Given the description of an element on the screen output the (x, y) to click on. 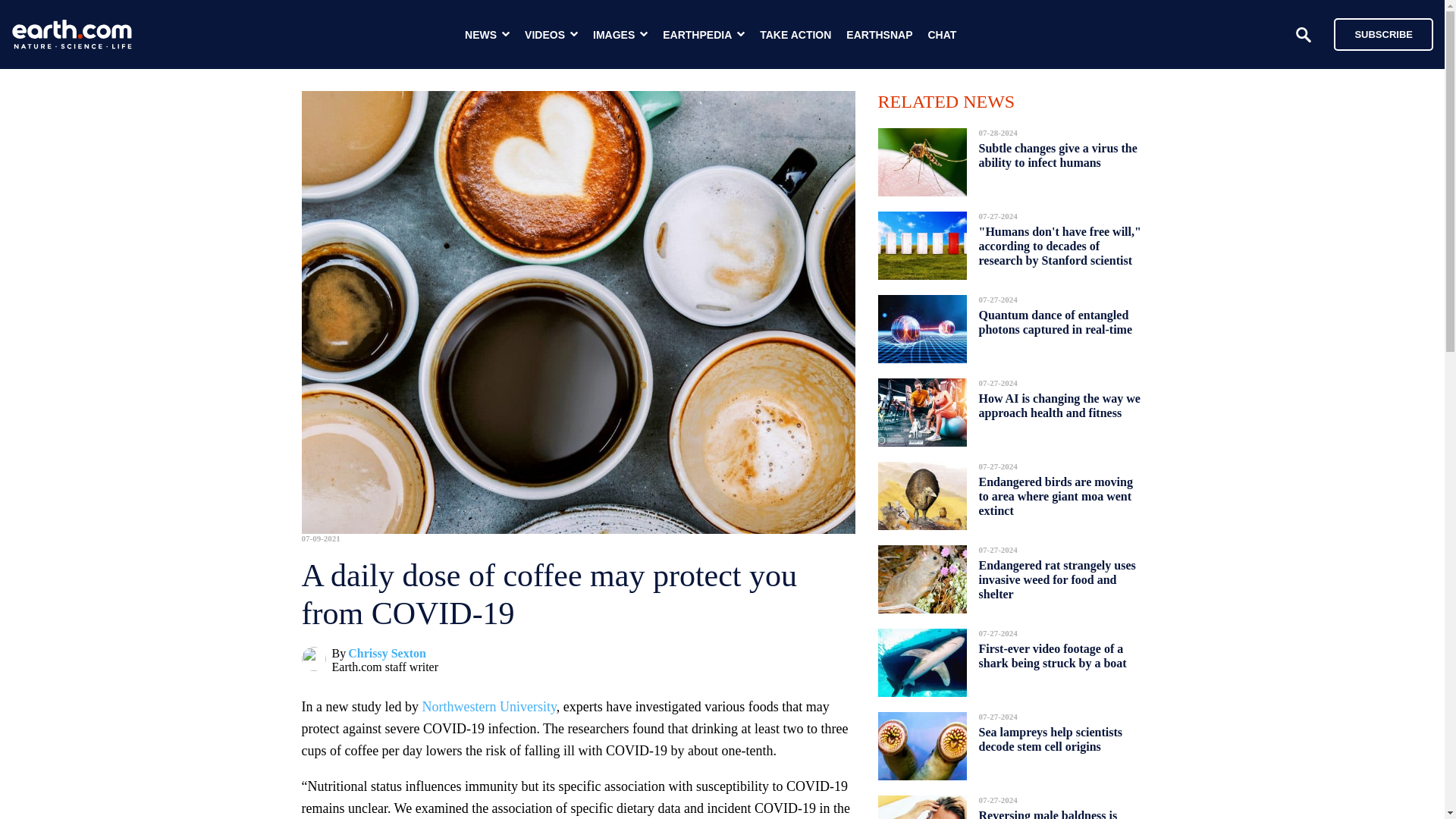
TAKE ACTION (795, 34)
Sea lampreys help scientists decode stem cell origins (1049, 739)
CHAT (941, 34)
Quantum dance of entangled photons captured in real-time (1055, 322)
Northwestern University (489, 706)
First-ever video footage of a shark being struck by a boat (1051, 655)
Subtle changes give a virus the ability to infect humans (1057, 155)
EARTHSNAP (878, 34)
Chrissy Sexton (386, 653)
SUBSCRIBE (1382, 34)
How AI is changing the way we approach health and fitness (1059, 405)
